Given the description of an element on the screen output the (x, y) to click on. 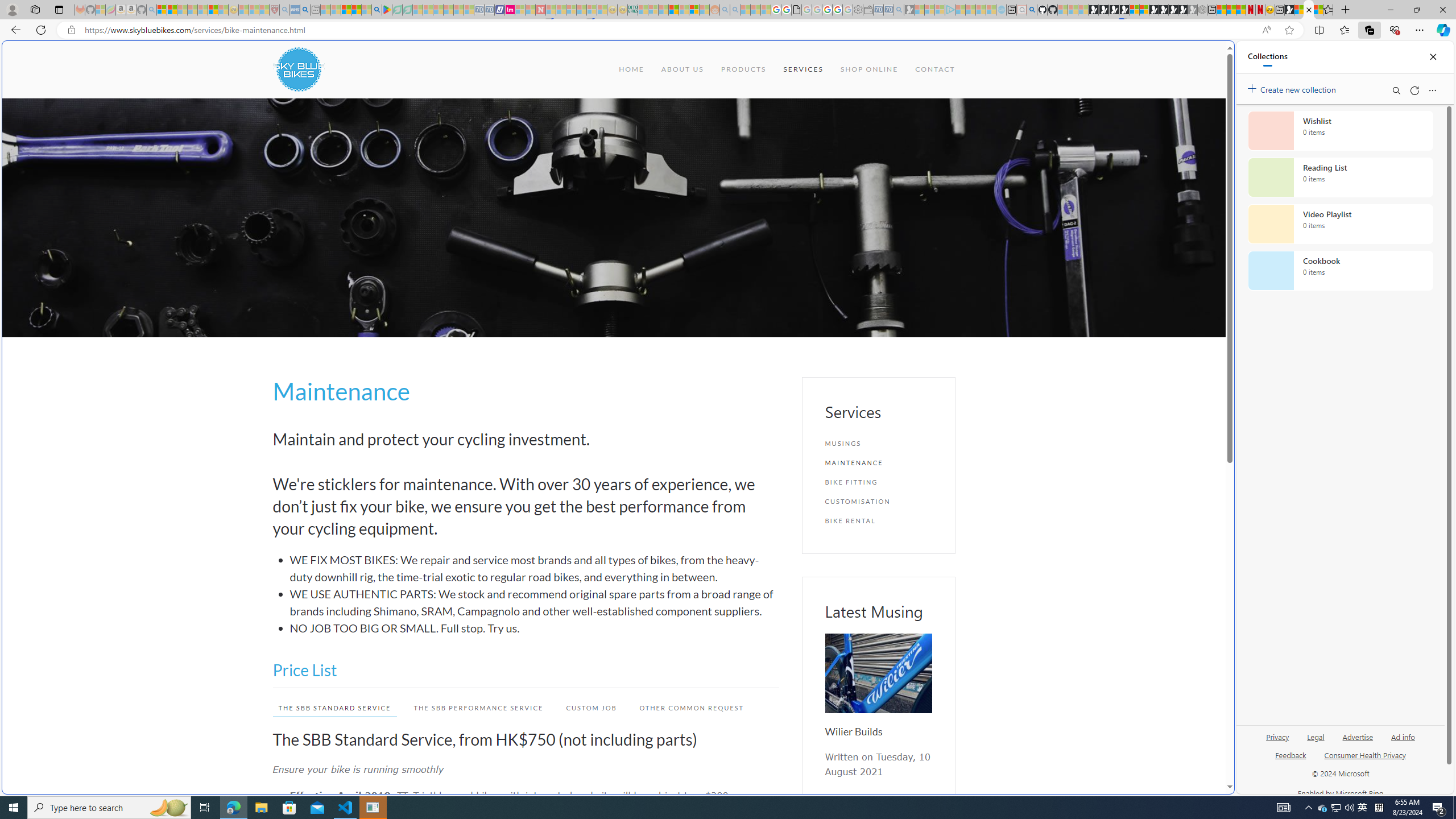
ABOUT US (681, 68)
MUSINGS (878, 443)
MUSINGS (878, 443)
Reading List collection, 0 items (1339, 177)
